Given the description of an element on the screen output the (x, y) to click on. 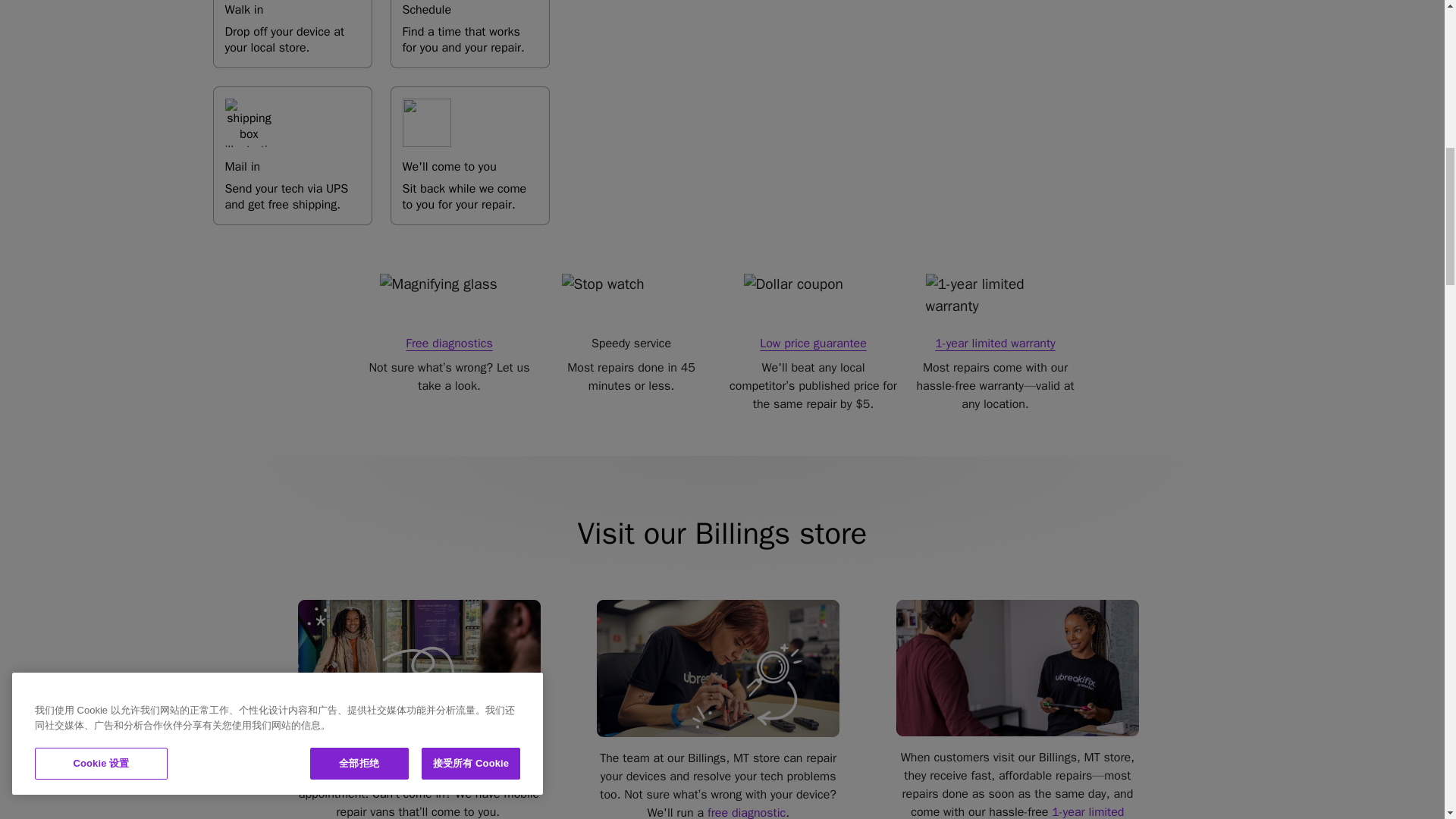
free diagnostic (746, 812)
1-year limited warranty (291, 155)
1-year limited warranty (1058, 811)
Free diagnostics (994, 343)
Low price guarantee (291, 33)
